Given the description of an element on the screen output the (x, y) to click on. 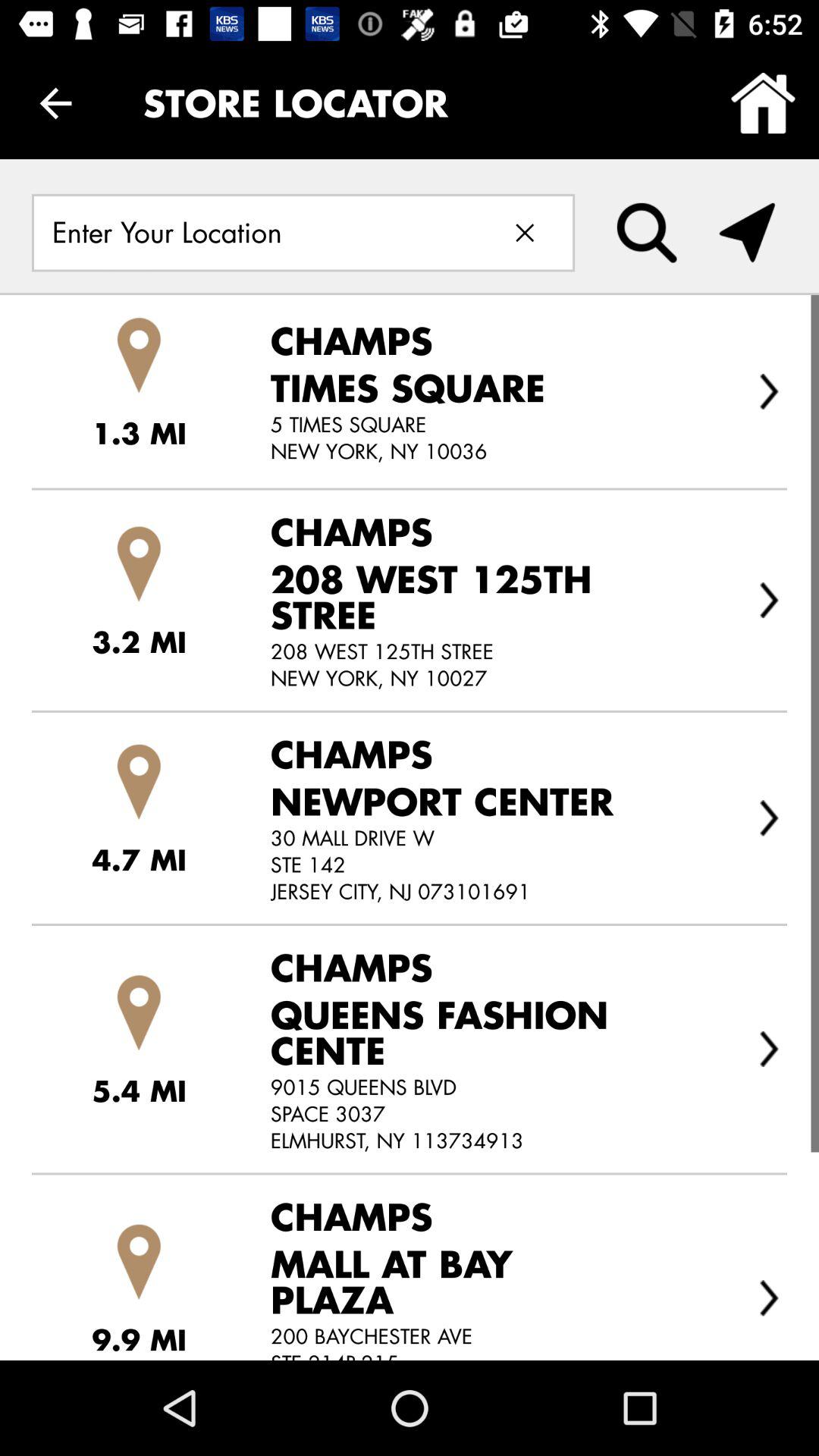
use location services to determine your locatoin (746, 232)
